Given the description of an element on the screen output the (x, y) to click on. 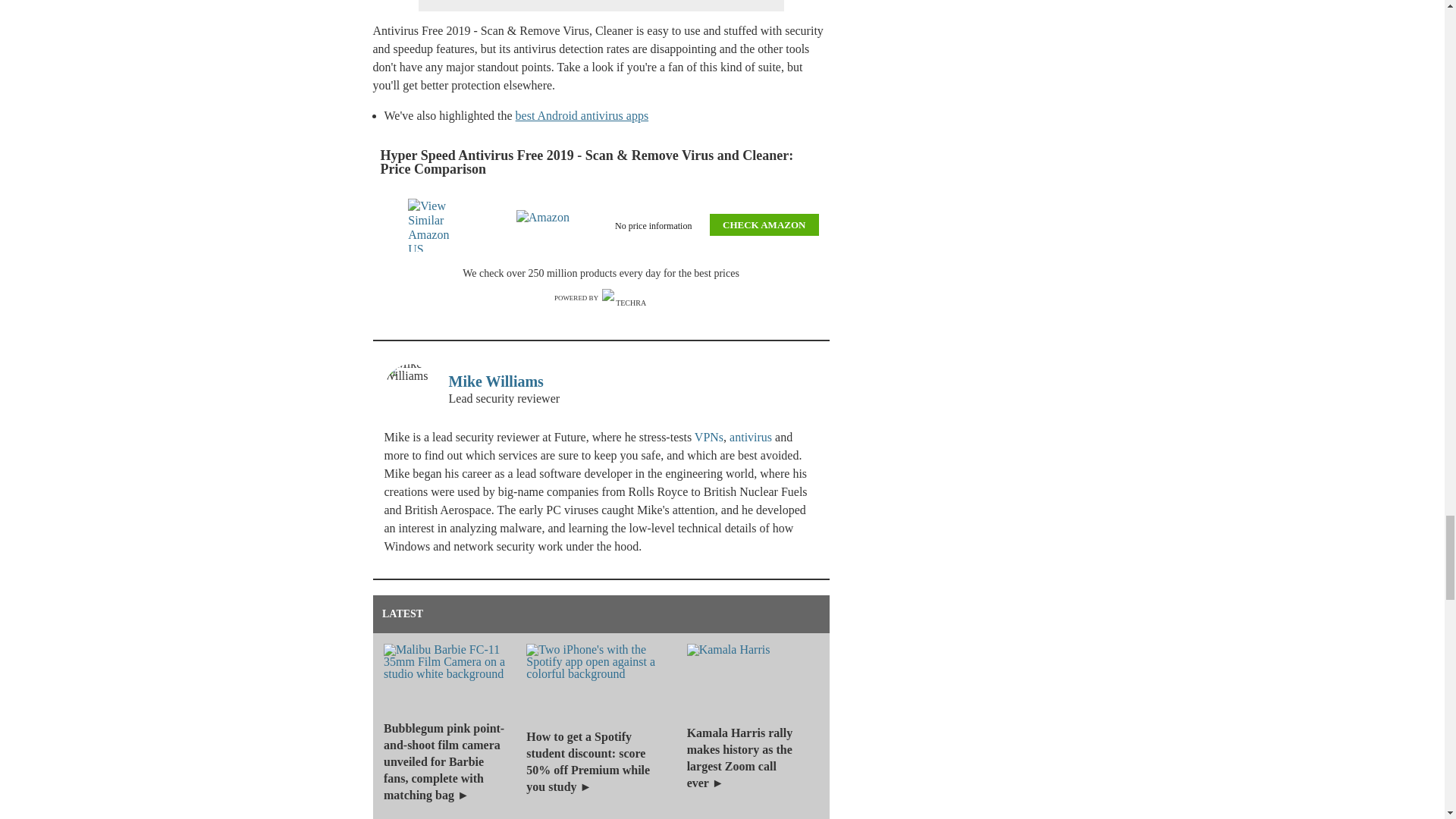
Techradar (624, 298)
View Similar Amazon US (437, 225)
Amazon (546, 224)
